Given the description of an element on the screen output the (x, y) to click on. 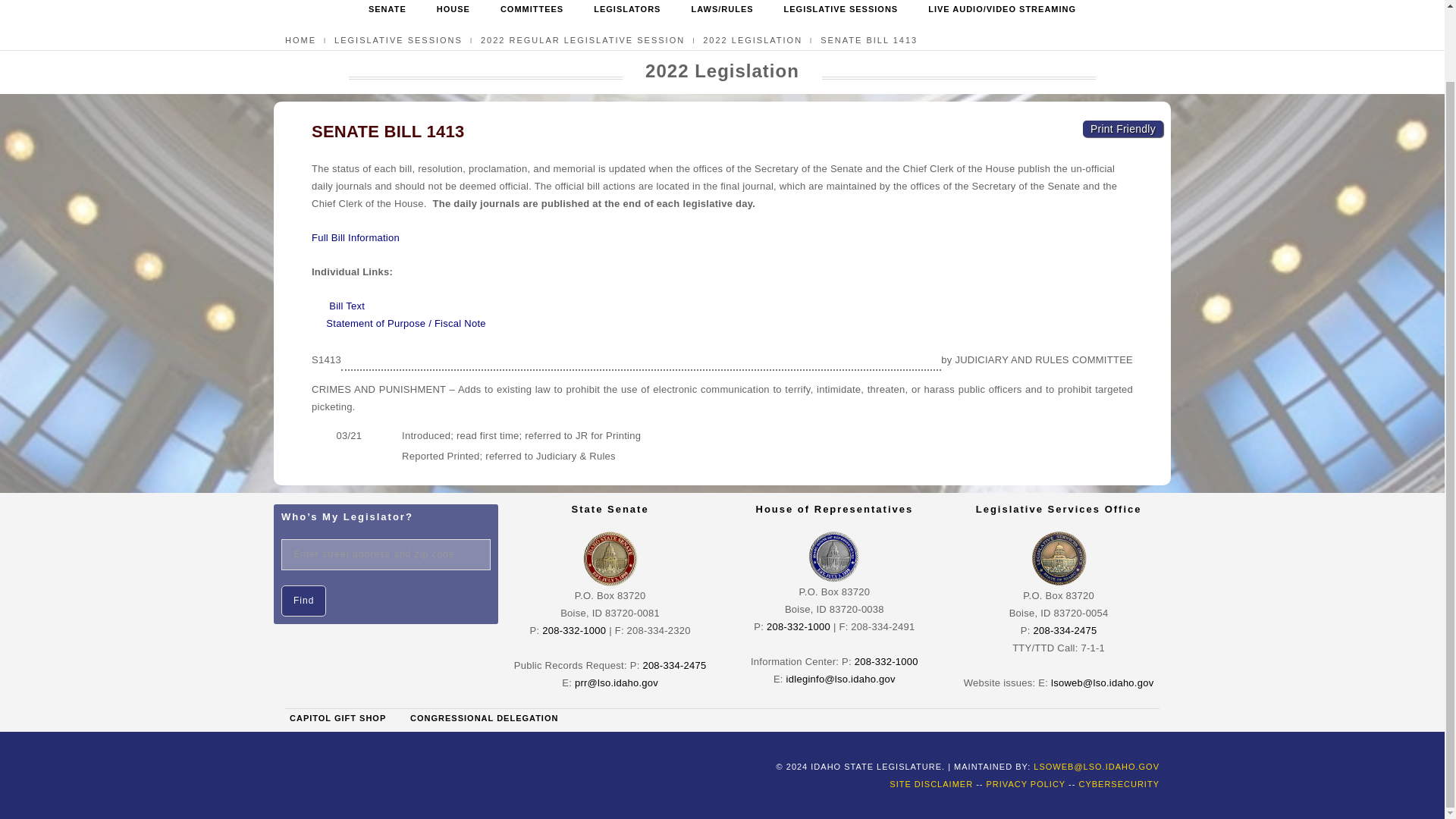
SENATE (387, 11)
LEGISLATORS (627, 11)
Browse to: Legislative Sessions (398, 40)
COMMITTEES (531, 11)
Browse to: 2022 Legislation (752, 40)
Browse to: 2022 Regular Legislative Session (582, 40)
Browse to: Home (300, 40)
Find (303, 600)
HOUSE (453, 11)
